Given the description of an element on the screen output the (x, y) to click on. 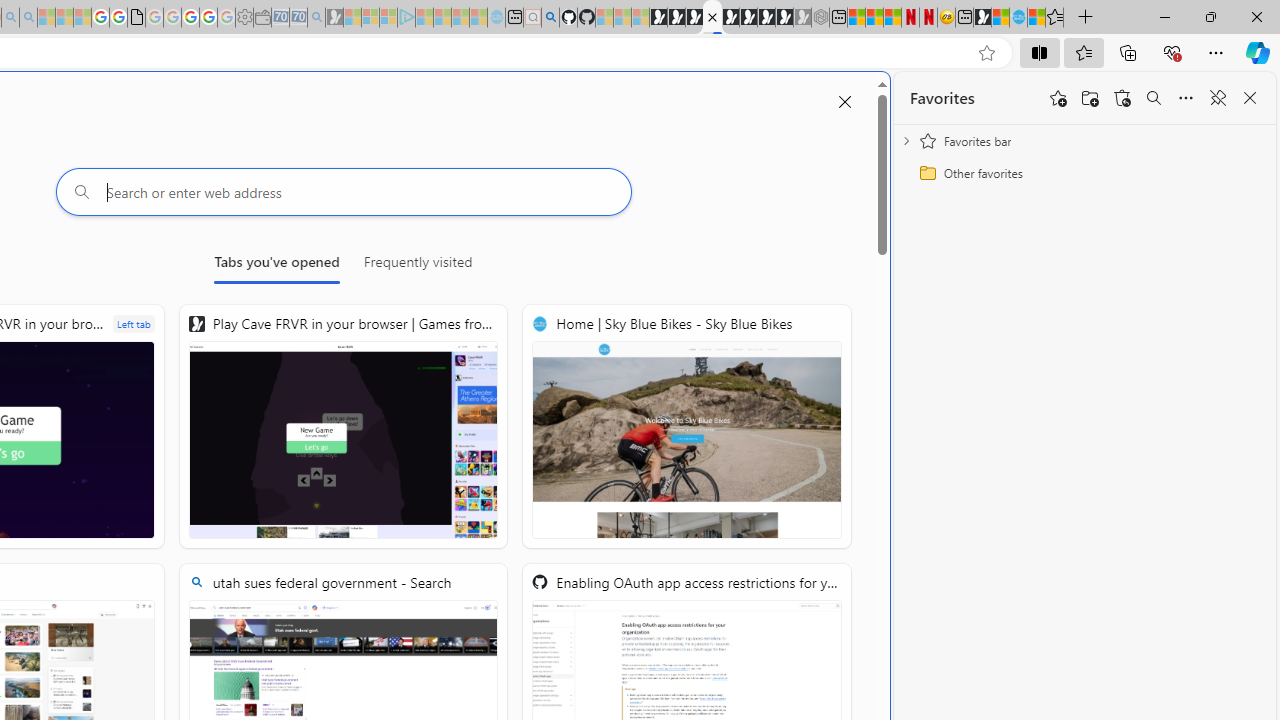
Bing Real Estate - Home sales and rental listings - Sleeping (316, 17)
Add this page to favorites (1058, 98)
Tabs you've opened (276, 265)
